Given the description of an element on the screen output the (x, y) to click on. 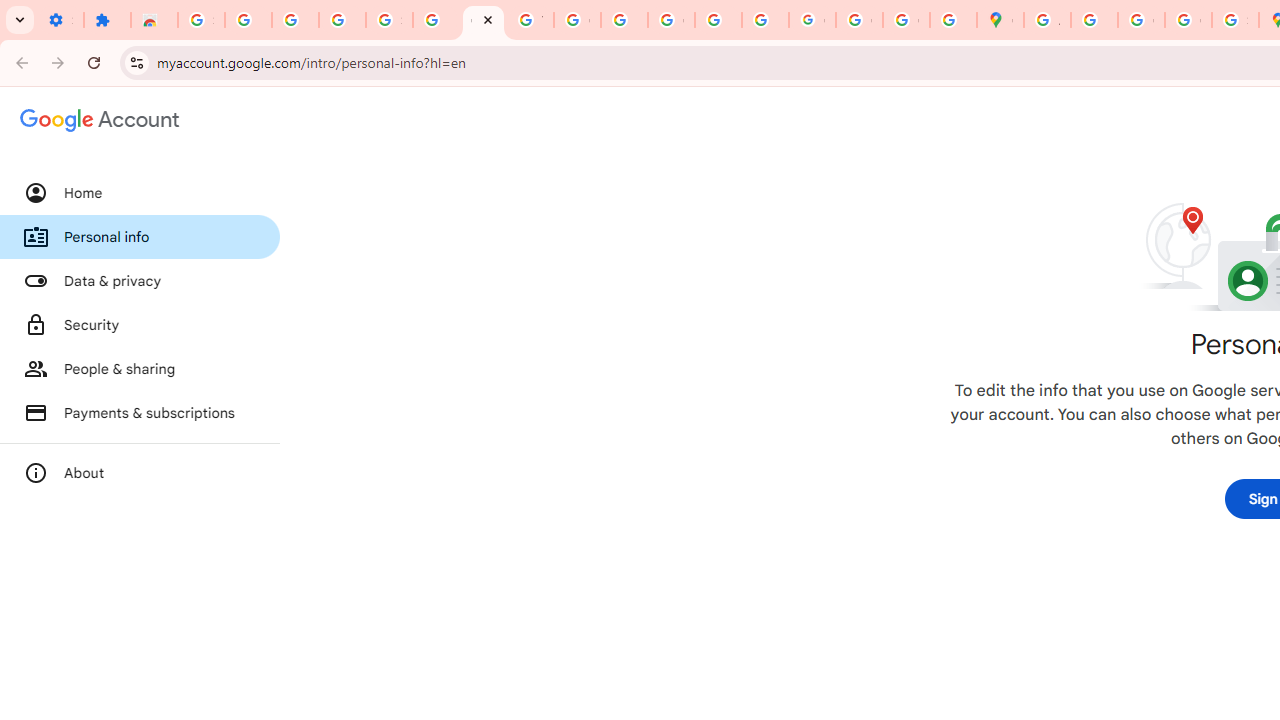
Delete photos & videos - Computer - Google Photos Help (248, 20)
Create your Google Account (1140, 20)
Google Account (482, 20)
Data & privacy (140, 281)
YouTube (530, 20)
Personal info (140, 237)
https://scholar.google.com/ (623, 20)
